Given the description of an element on the screen output the (x, y) to click on. 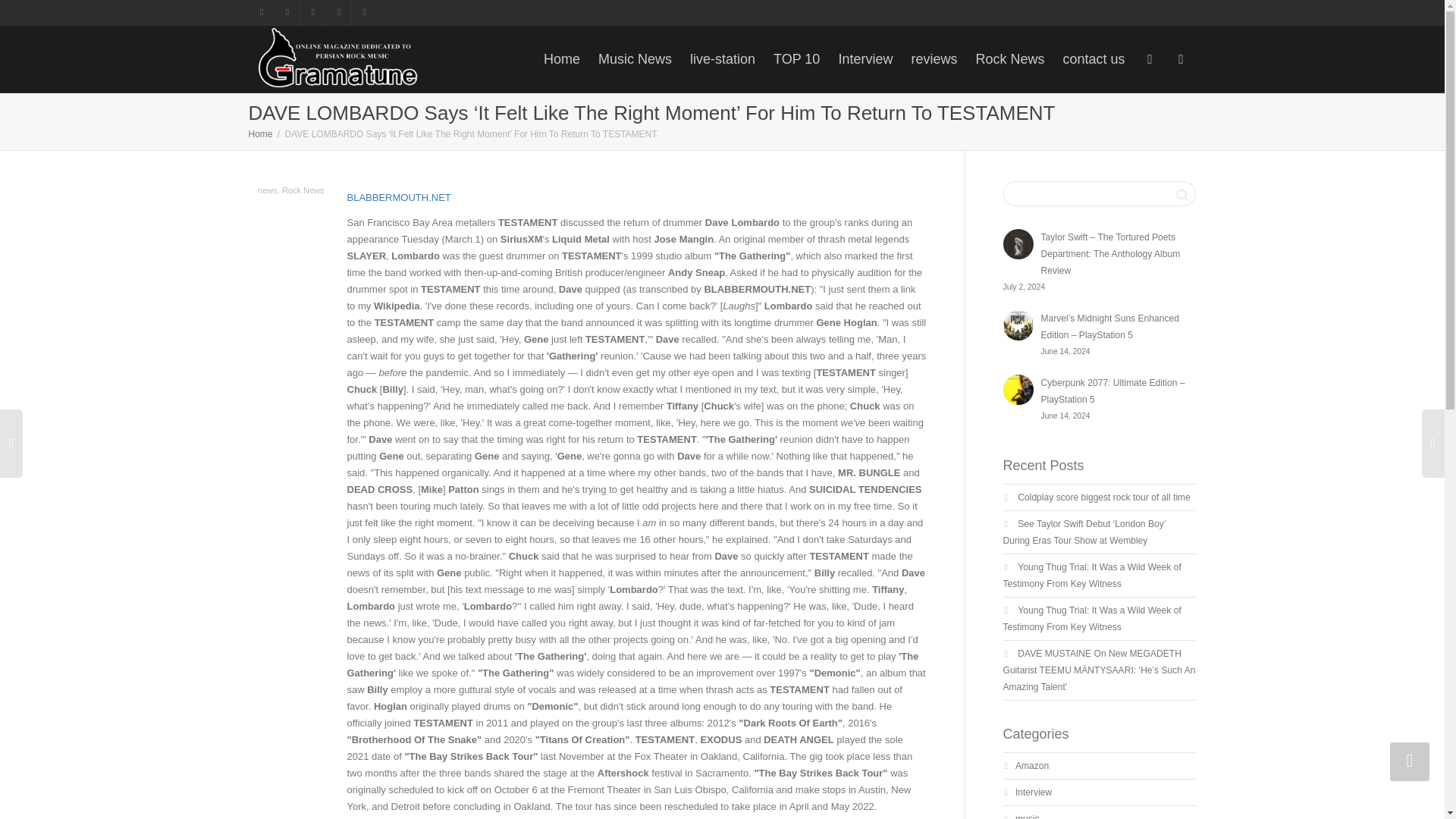
Search (1181, 194)
contact us (1093, 58)
live-station (722, 58)
Rock News (303, 189)
Search (1181, 194)
Rock News (1009, 58)
Home (260, 133)
Music News (634, 58)
news (267, 189)
Rock News (1009, 58)
